Given the description of an element on the screen output the (x, y) to click on. 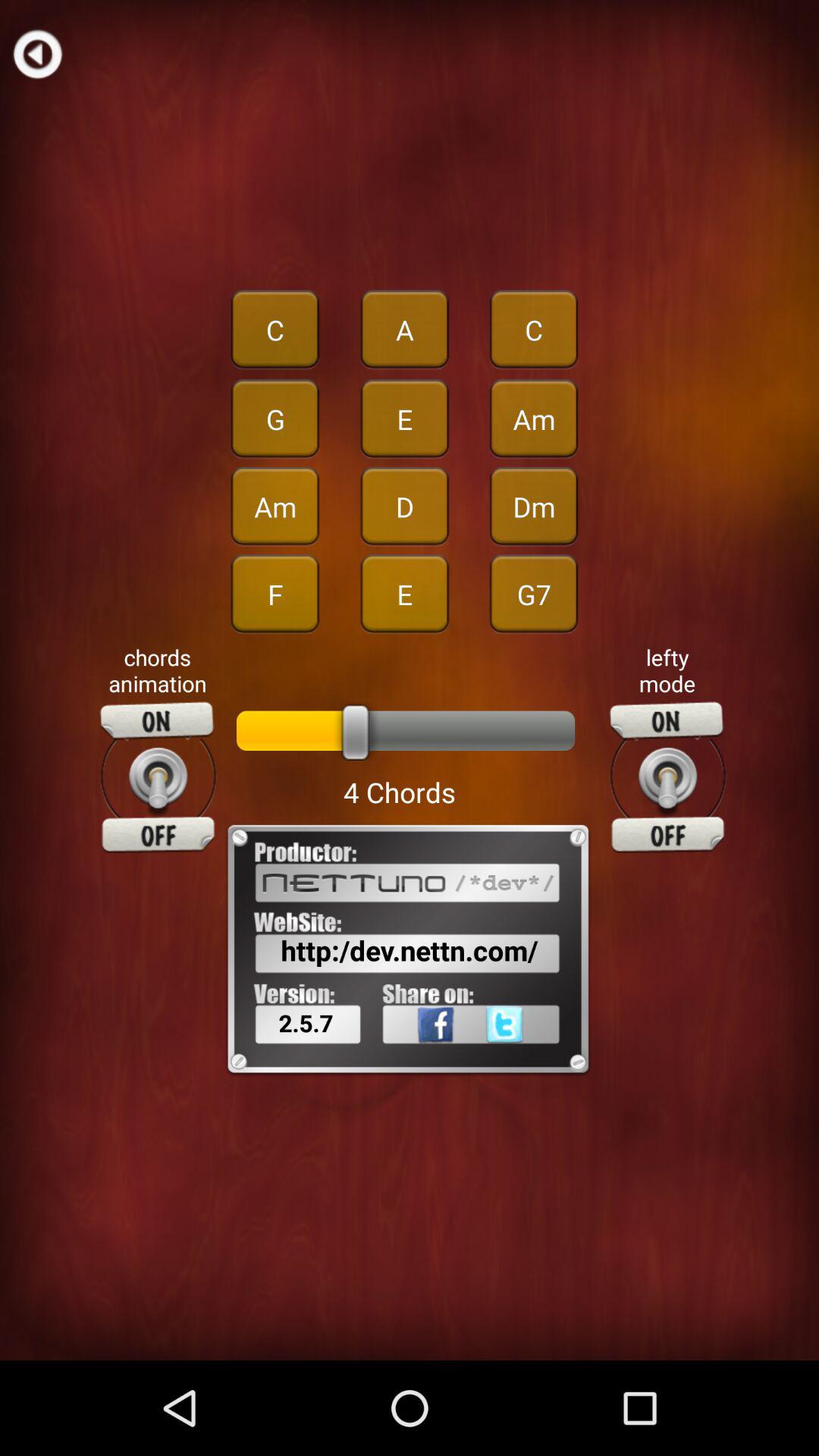
toggle lefty mode (667, 777)
